Given the description of an element on the screen output the (x, y) to click on. 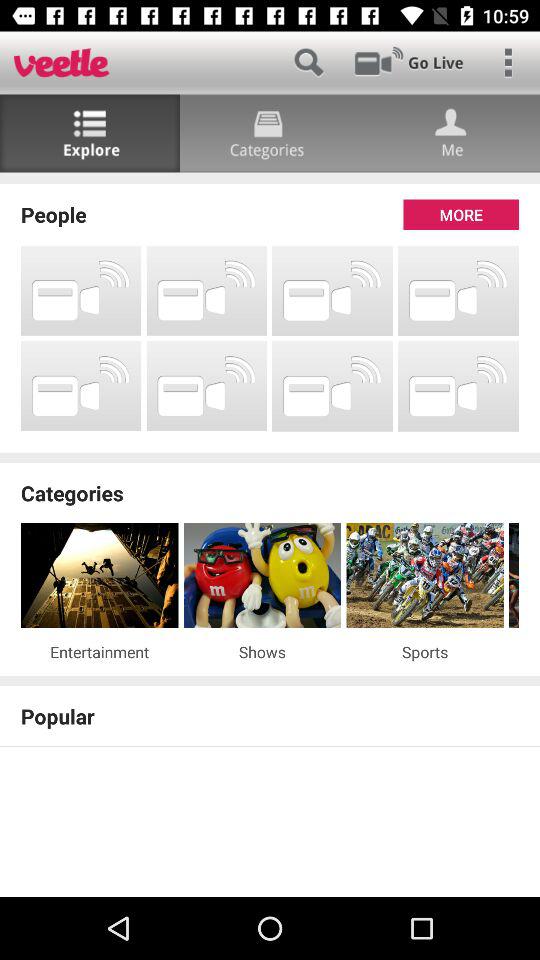
tap the app to the left of the sports icon (262, 651)
